Given the description of an element on the screen output the (x, y) to click on. 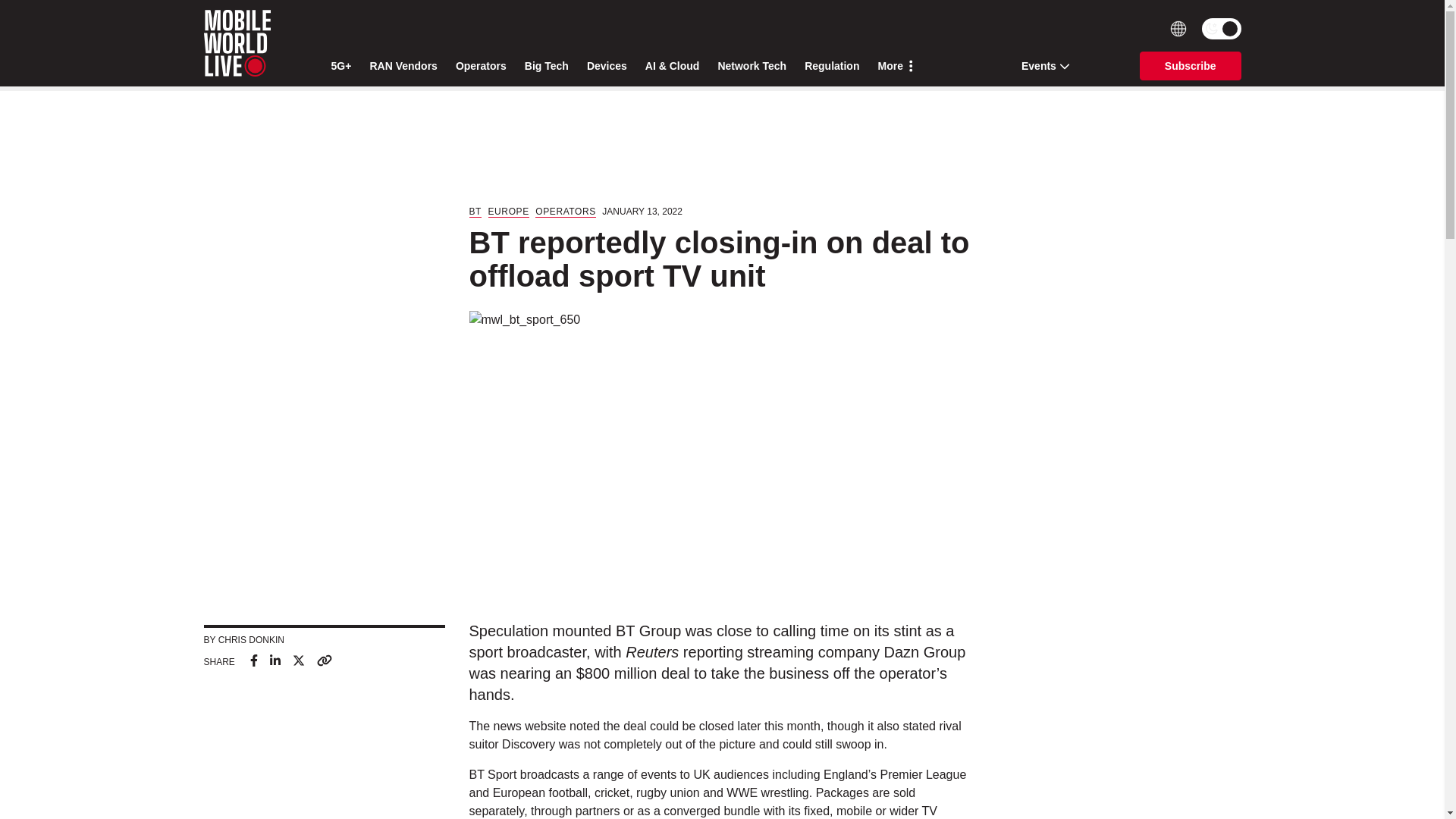
Big Tech (546, 65)
Operators (480, 65)
Regulation (832, 65)
Events (1040, 65)
Network Tech (751, 65)
Subscribe (1190, 65)
RAN Vendors (402, 65)
Devices (606, 65)
